Given the description of an element on the screen output the (x, y) to click on. 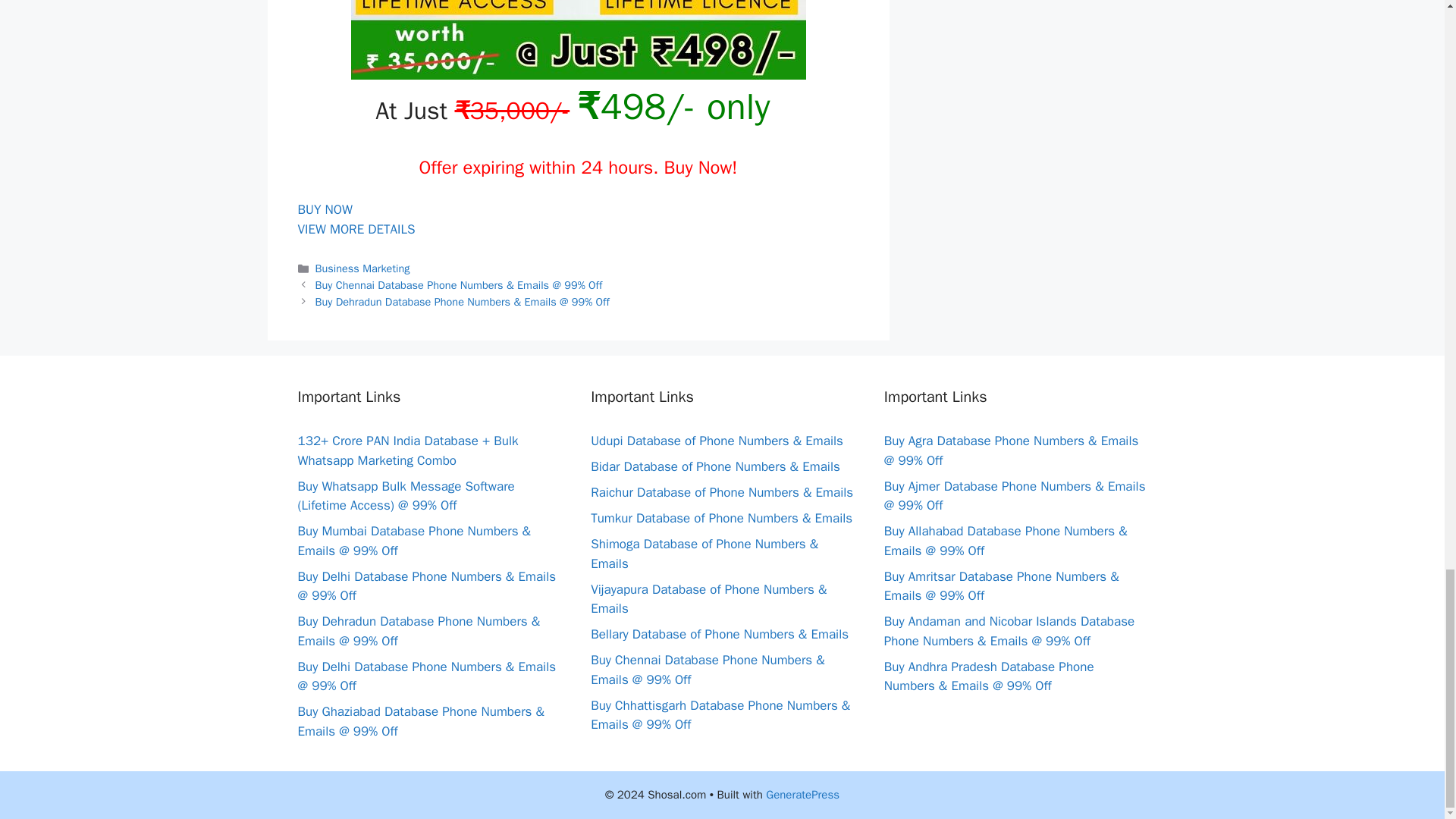
BUY NOW (324, 209)
Business Marketing (362, 268)
VIEW MORE DETAILS (355, 229)
